Given the description of an element on the screen output the (x, y) to click on. 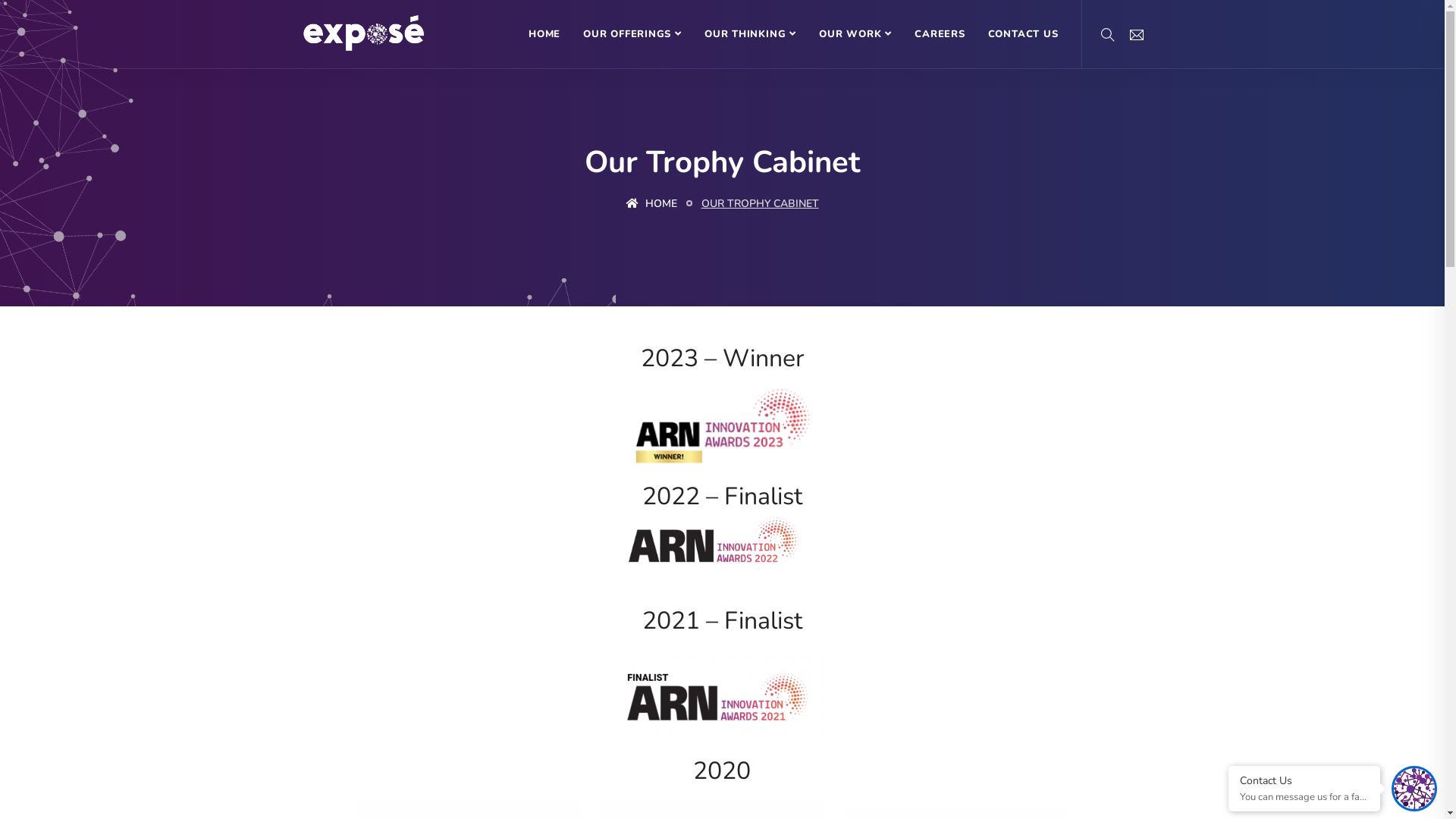
HOME Element type: text (651, 203)
OUR OFFERINGS Element type: text (632, 34)
CONTACT US Element type: text (1023, 34)
OUR THINKING Element type: text (750, 34)
CAREERS Element type: text (939, 34)
HOME Element type: text (544, 34)
OUR WORK Element type: text (855, 34)
